Given the description of an element on the screen output the (x, y) to click on. 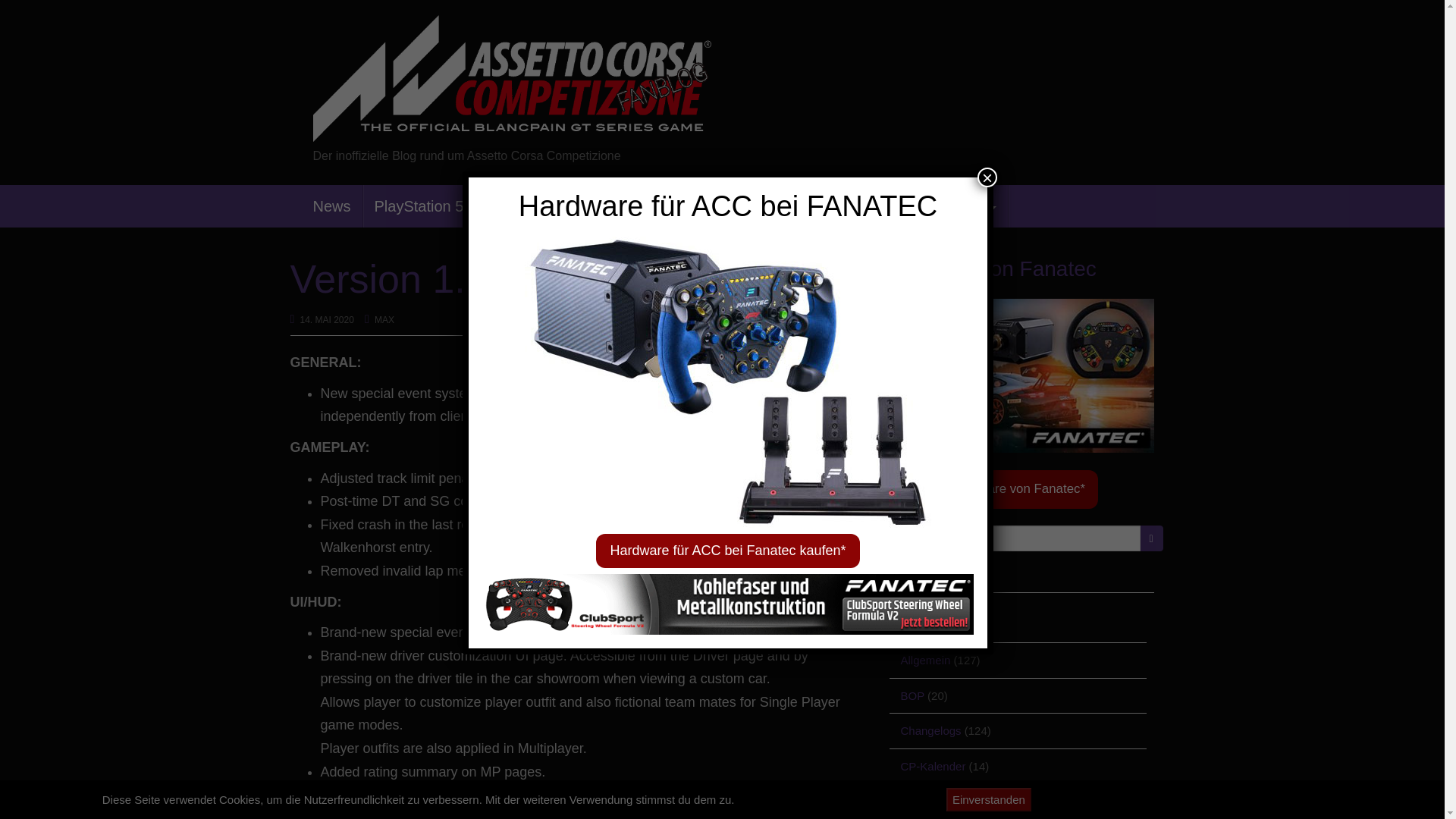
XBox (505, 206)
Autos (638, 206)
DLC (568, 206)
DLC (568, 206)
News (331, 206)
News (331, 206)
XBox (505, 206)
PlayStation 5 (419, 206)
Autos (638, 206)
PlayStation 5 (419, 206)
